Given the description of an element on the screen output the (x, y) to click on. 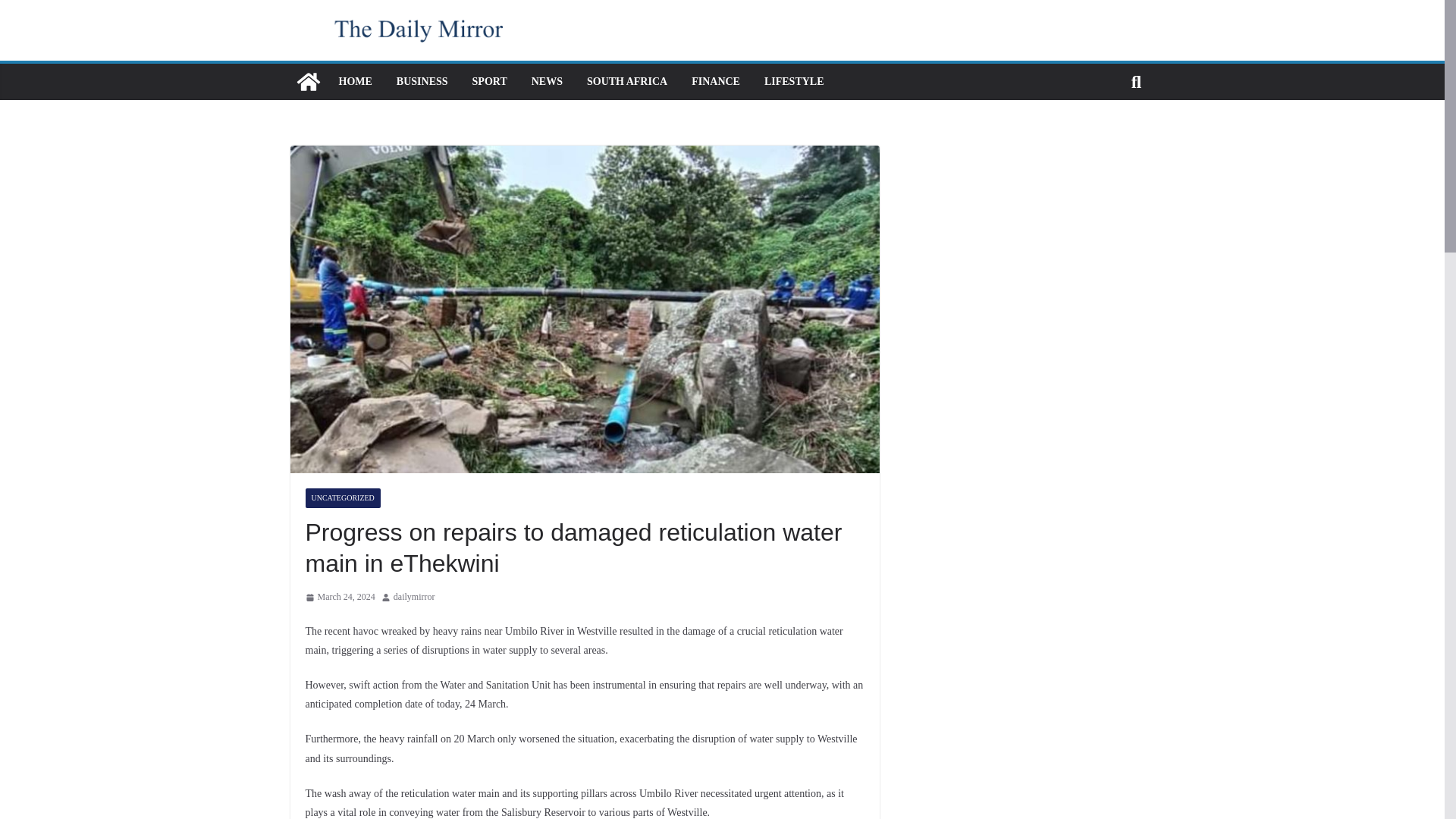
BUSINESS (422, 81)
The Daily Mirror (307, 81)
10:26 am (339, 597)
NEWS (546, 81)
UNCATEGORIZED (342, 497)
HOME (354, 81)
March 24, 2024 (339, 597)
SOUTH AFRICA (626, 81)
dailymirror (414, 597)
SPORT (488, 81)
LIFESTYLE (794, 81)
dailymirror (414, 597)
FINANCE (715, 81)
